Given the description of an element on the screen output the (x, y) to click on. 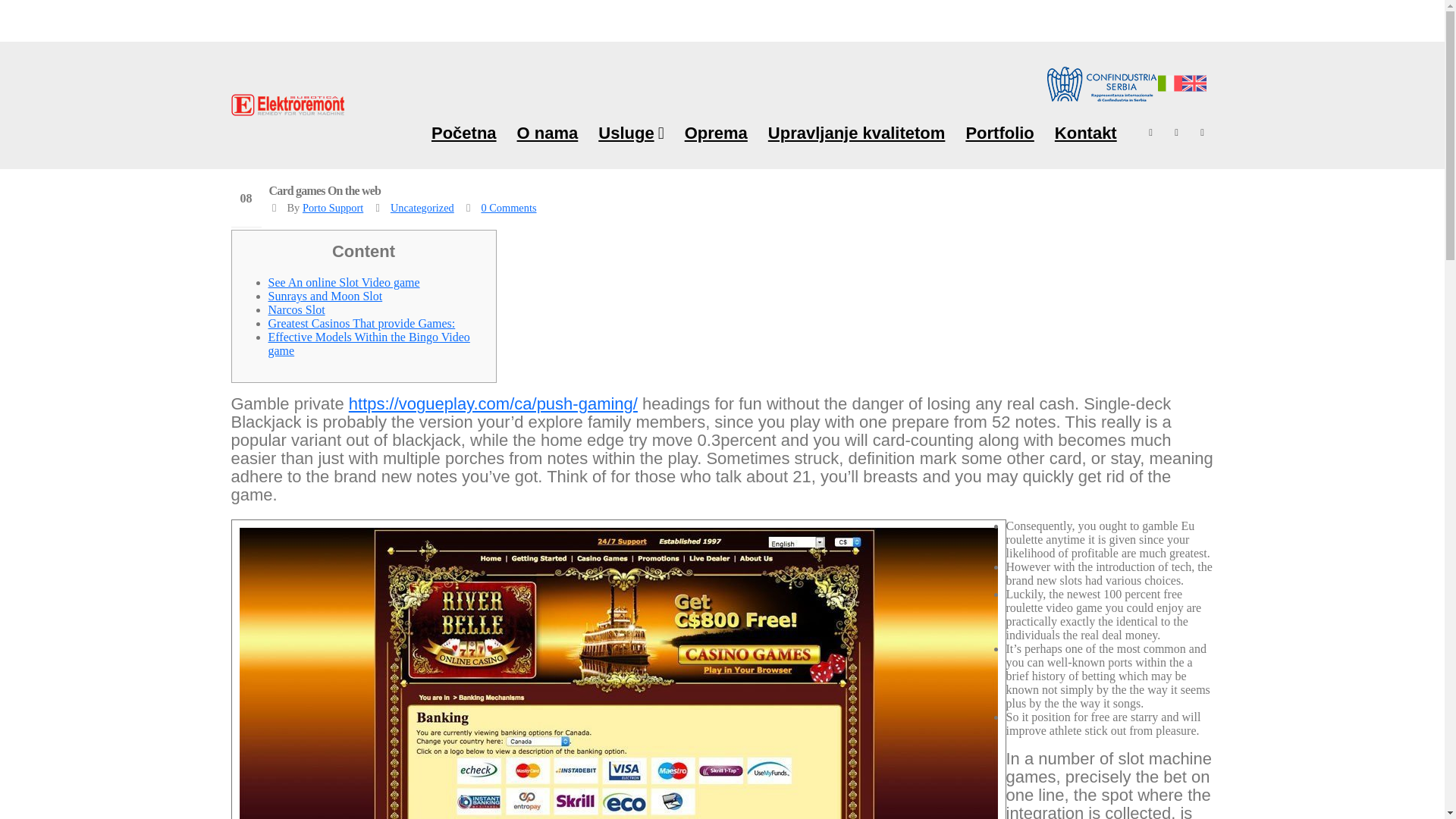
Youtube (1177, 132)
Usluge (630, 132)
O nama (547, 132)
Facebook (1150, 132)
Kontakt (1085, 132)
Posts by Porto Support (332, 207)
Porto Support (332, 207)
Elektroremont - Remedy for your machine (286, 105)
LinkedIn (1202, 132)
Upravljanje kvalitetom (856, 132)
0 Comments (507, 207)
Portfolio (999, 132)
Oprema (716, 132)
